Given the description of an element on the screen output the (x, y) to click on. 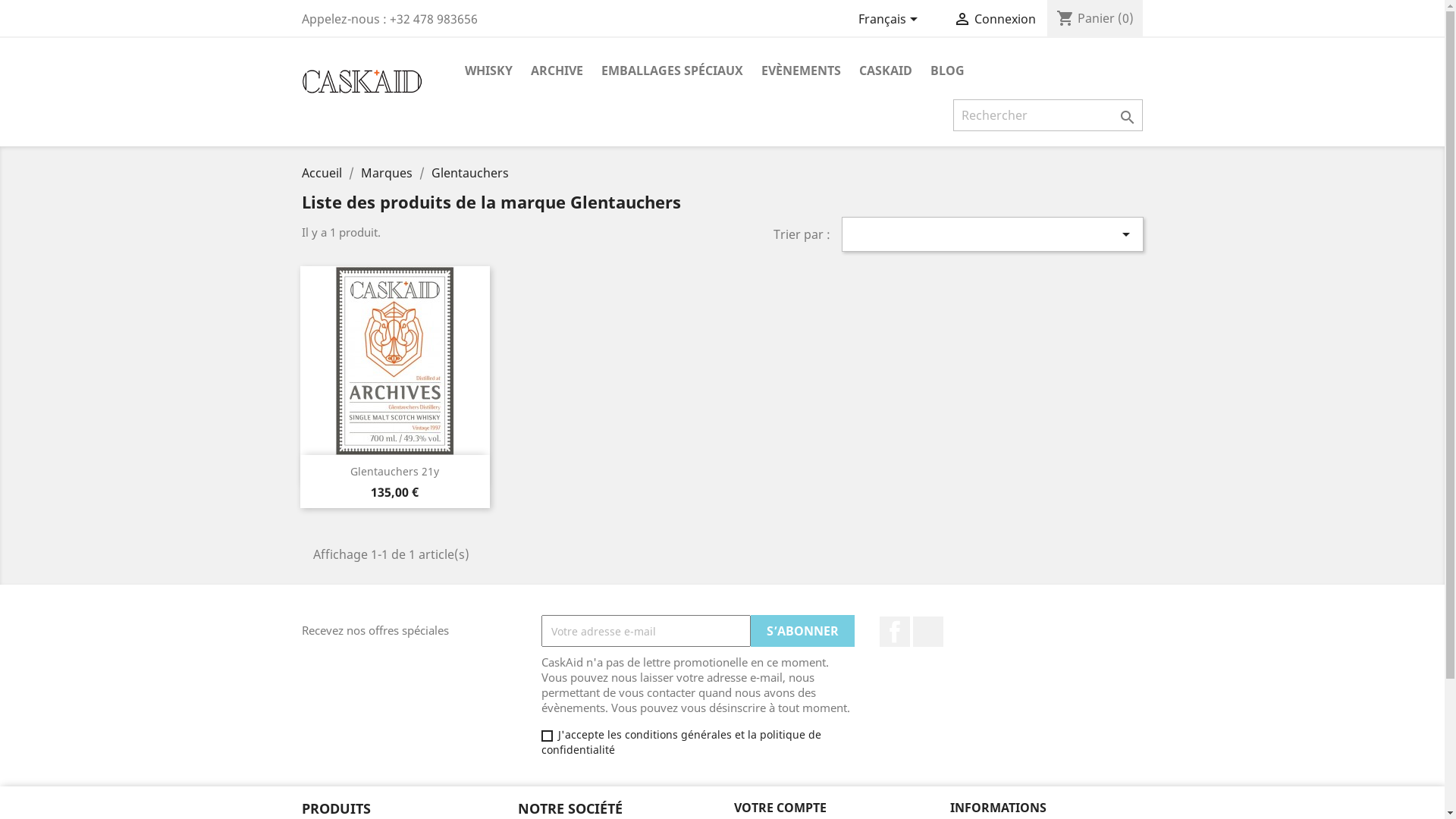
Marques Element type: text (387, 172)
ARCHIVE Element type: text (556, 71)
CASKAID Element type: text (884, 71)
Glentauchers 21y Element type: text (394, 471)
VOTRE COMPTE Element type: text (780, 807)
Glentauchers Element type: text (469, 172)
BLOG Element type: text (946, 71)
LinkedIn Element type: text (928, 631)
WHISKY Element type: text (487, 71)
Accueil Element type: text (323, 172)
Facebook Element type: text (894, 631)
